Given the description of an element on the screen output the (x, y) to click on. 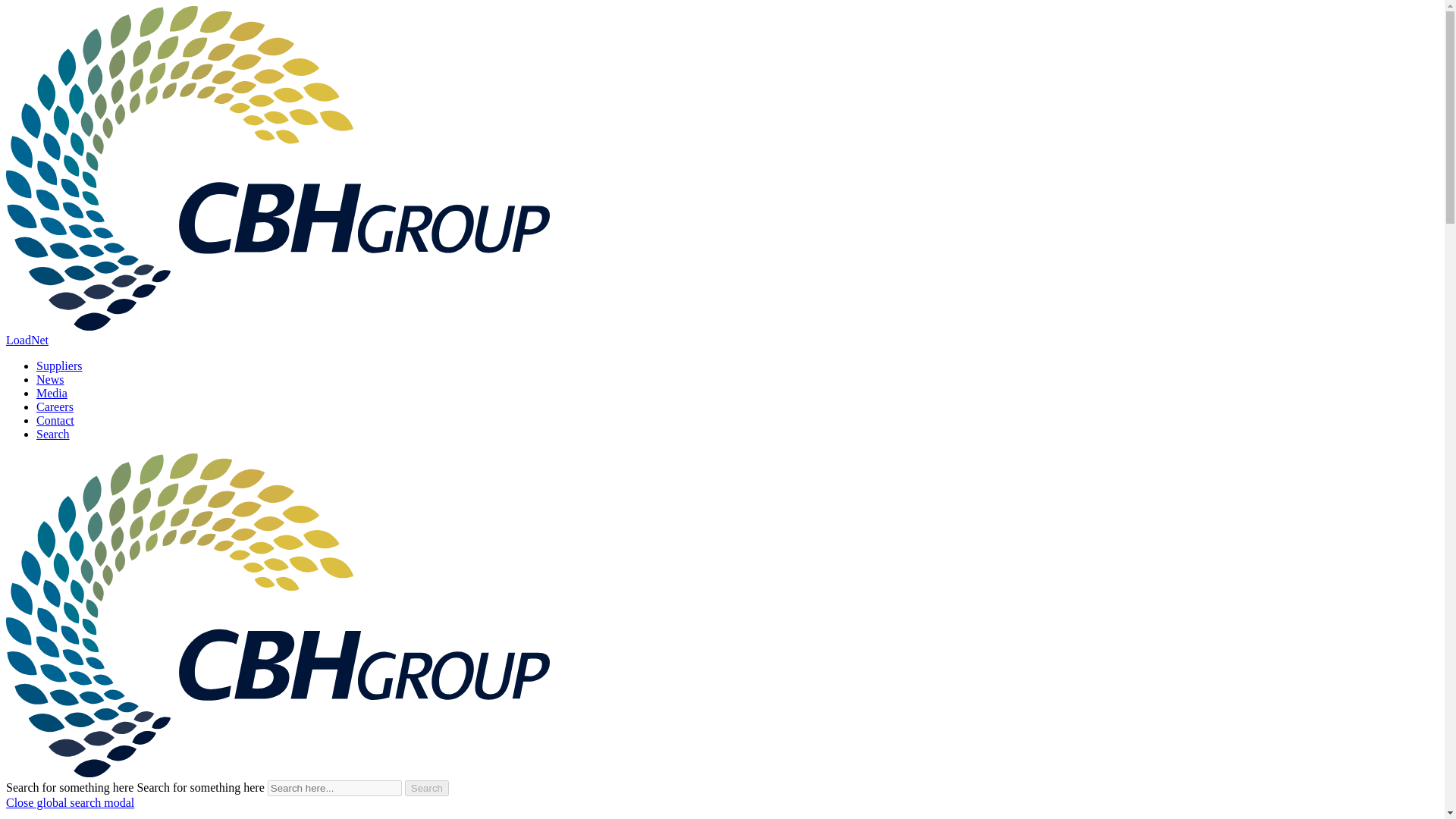
Contact (55, 420)
Close global search modal (69, 802)
Suppliers (58, 365)
News (50, 379)
Media (51, 392)
Media (51, 392)
Careers (55, 406)
Search (52, 433)
Search (426, 788)
